Given the description of an element on the screen output the (x, y) to click on. 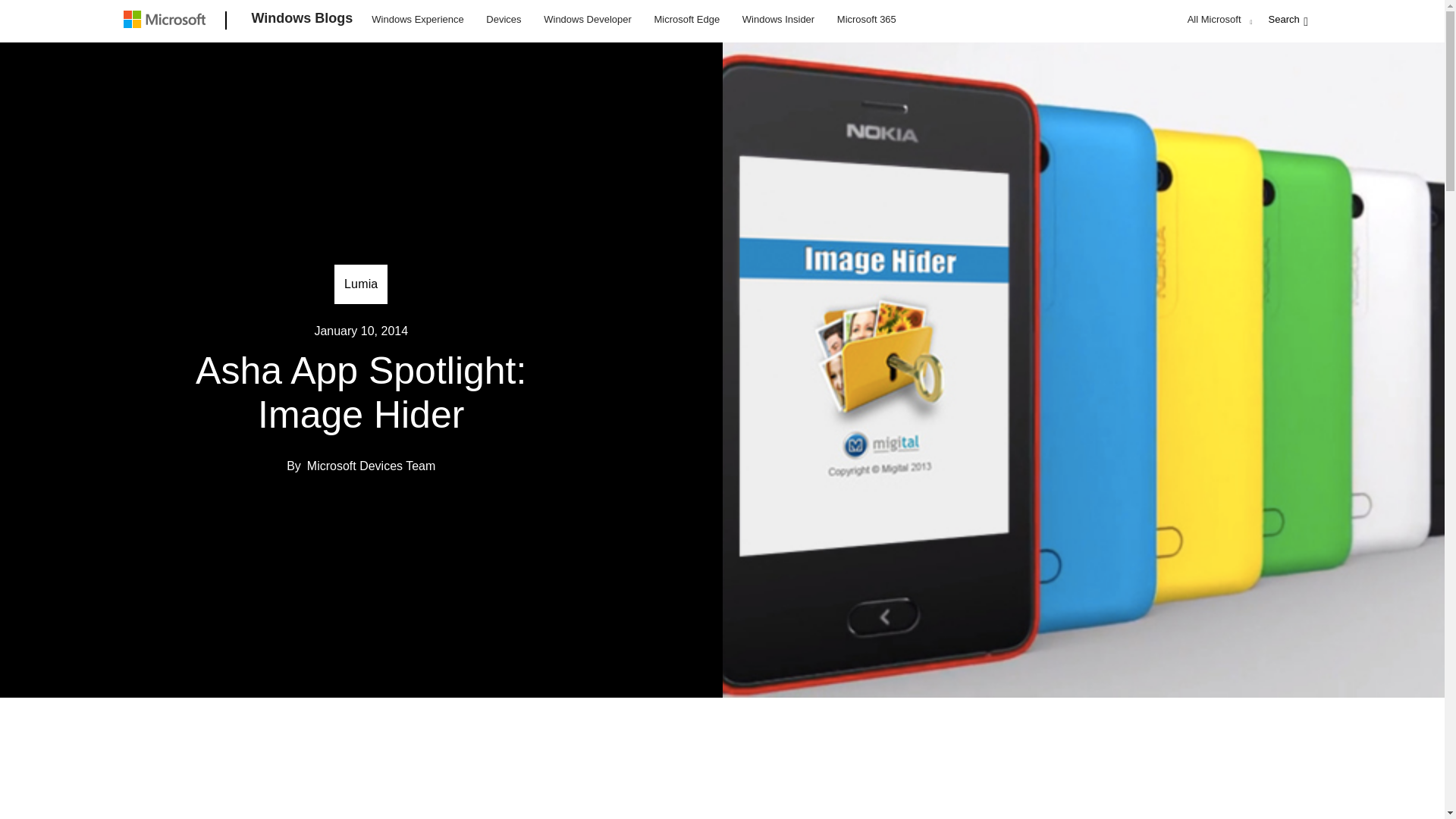
Windows Insider (778, 18)
Microsoft Edge (686, 18)
Microsoft 365 (865, 18)
Windows Blogs (302, 20)
Microsoft (167, 20)
Windows Developer (588, 18)
Devices (503, 18)
Windows Experience (417, 18)
All Microsoft (1217, 18)
